Given the description of an element on the screen output the (x, y) to click on. 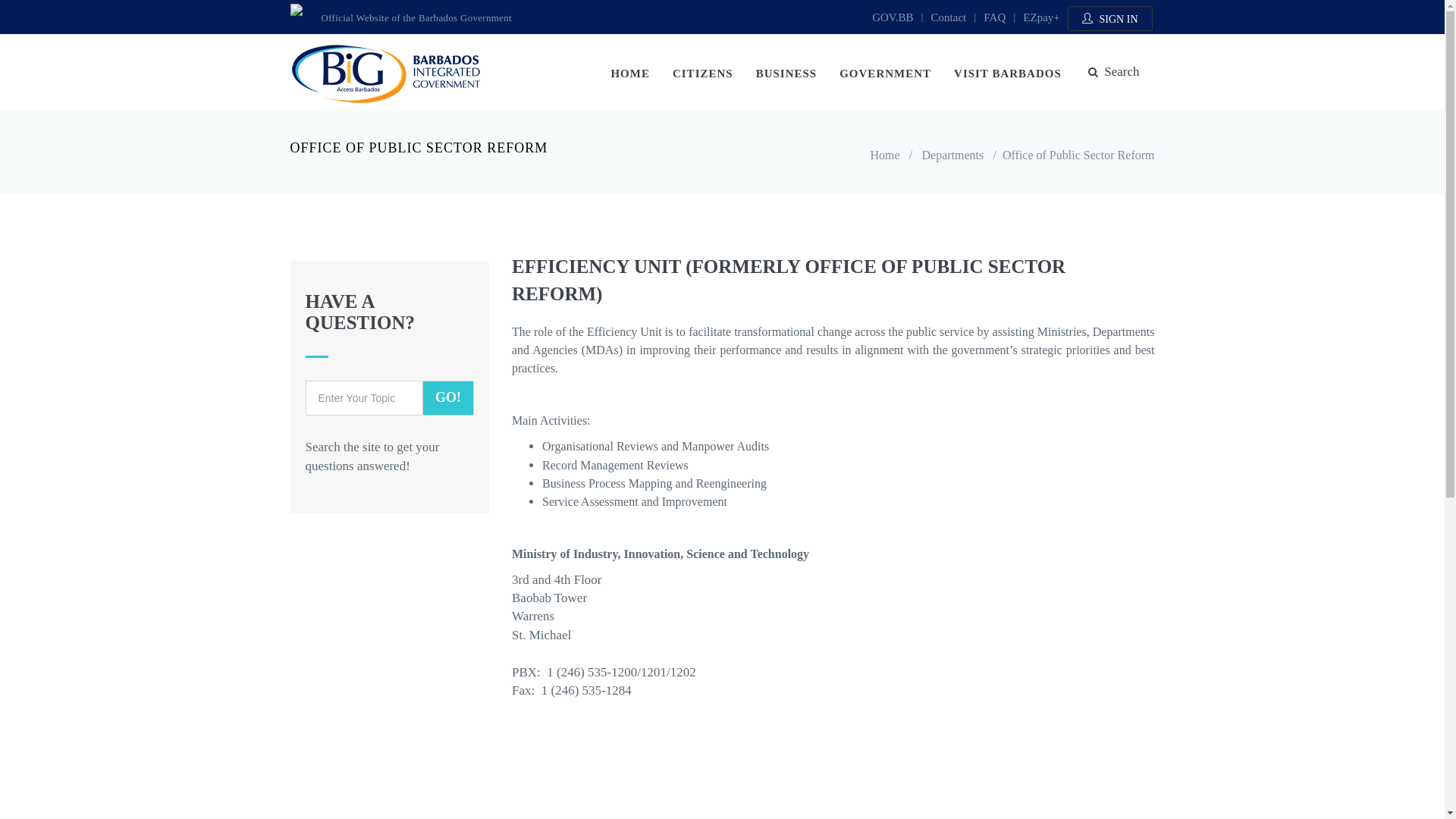
GO! Element type: text (447, 397)
CITIZENS Element type: text (702, 72)
GOVERNMENT Element type: text (885, 72)
Office of Public Sector Reform Element type: text (1078, 154)
VISIT BARBADOS Element type: text (1007, 72)
GOV.BB Element type: text (892, 17)
EZpay+ Element type: text (1040, 17)
  Search Element type: text (1113, 72)
Home Element type: text (884, 154)
BUSINESS Element type: text (786, 72)
Departments Element type: text (953, 154)
Contact Element type: text (948, 17)
SIGN IN Element type: text (1109, 18)
HOME Element type: text (630, 72)
FAQ Element type: text (994, 17)
